Given the description of an element on the screen output the (x, y) to click on. 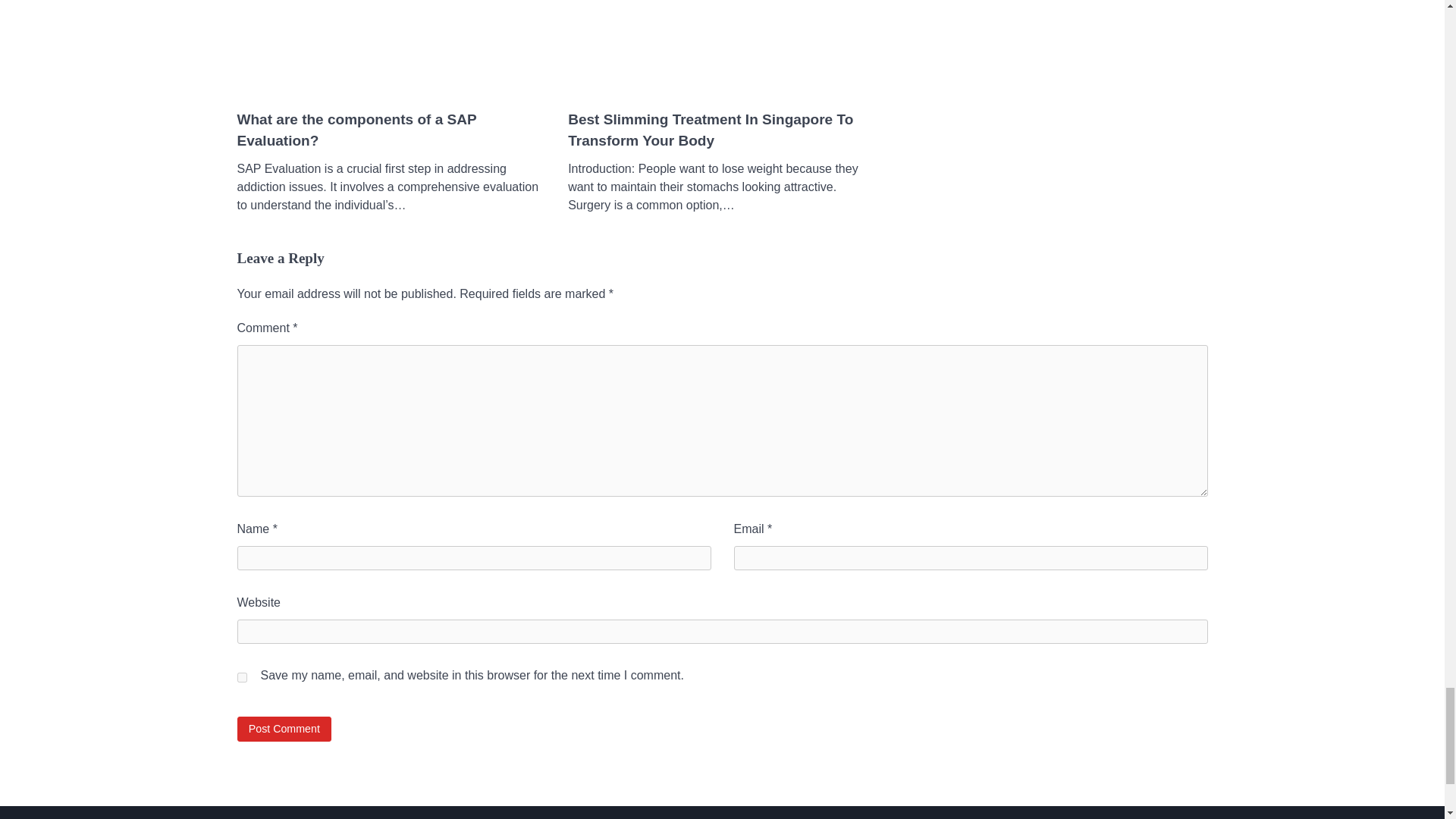
What are the components of a SAP Evaluation? (389, 130)
Best Slimming Treatment In Singapore To Transform Your Body (721, 130)
yes (240, 677)
Post Comment (283, 729)
Post Comment (283, 729)
